Given the description of an element on the screen output the (x, y) to click on. 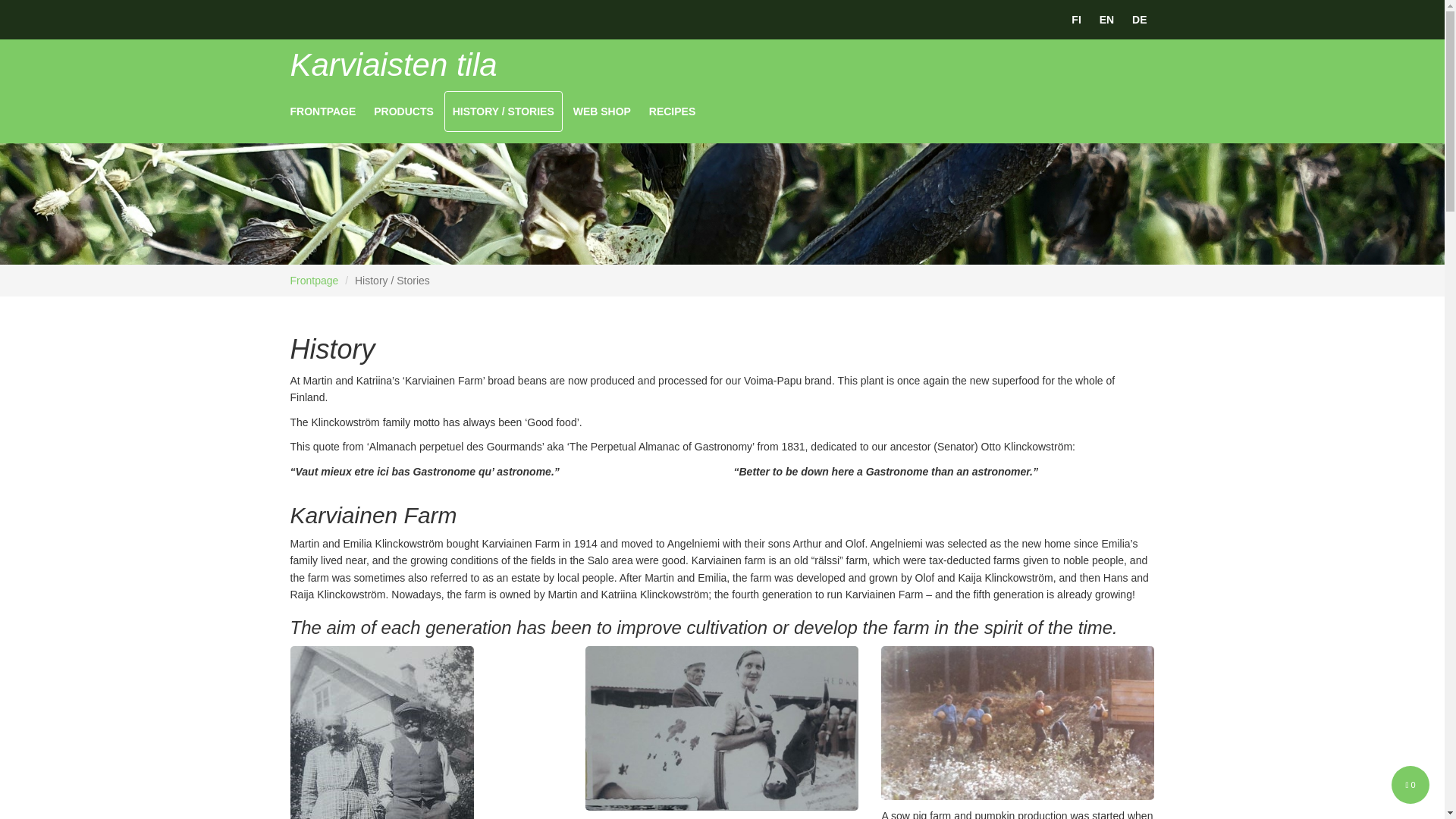
WEB SHOP (601, 111)
FRONTPAGE (322, 111)
Karviaisten tila (392, 64)
EN (1106, 19)
RECIPES (672, 111)
Frontpage (313, 280)
PRODUCTS (403, 111)
DE (1139, 19)
